Given the description of an element on the screen output the (x, y) to click on. 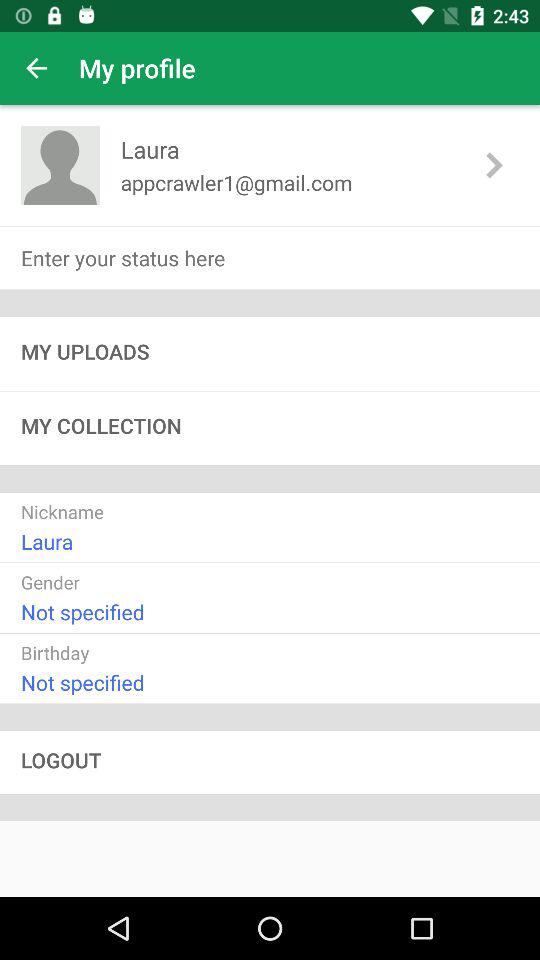
turn off logout item (270, 762)
